Given the description of an element on the screen output the (x, y) to click on. 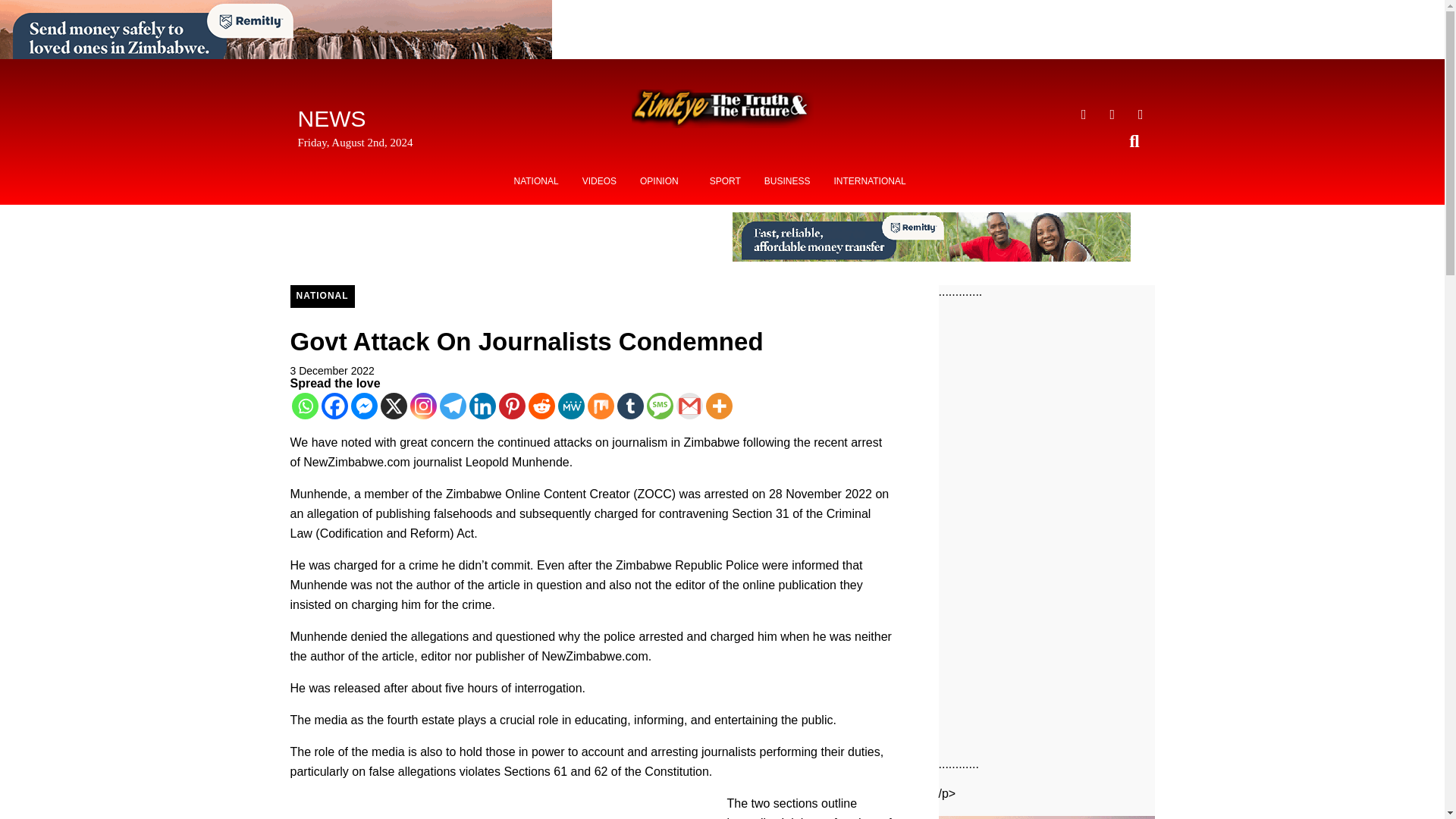
X (393, 406)
Reddit (540, 406)
VIDEOS (598, 181)
BUSINESS (787, 181)
Facebook Messenger (363, 406)
Mix (599, 406)
Facebook (334, 406)
Whatsapp (304, 406)
SPORT (725, 181)
Instagram (422, 406)
OPINION (662, 181)
NATIONAL (321, 296)
INTERNATIONAL (868, 181)
Linkedin (481, 406)
Pinterest (512, 406)
